Given the description of an element on the screen output the (x, y) to click on. 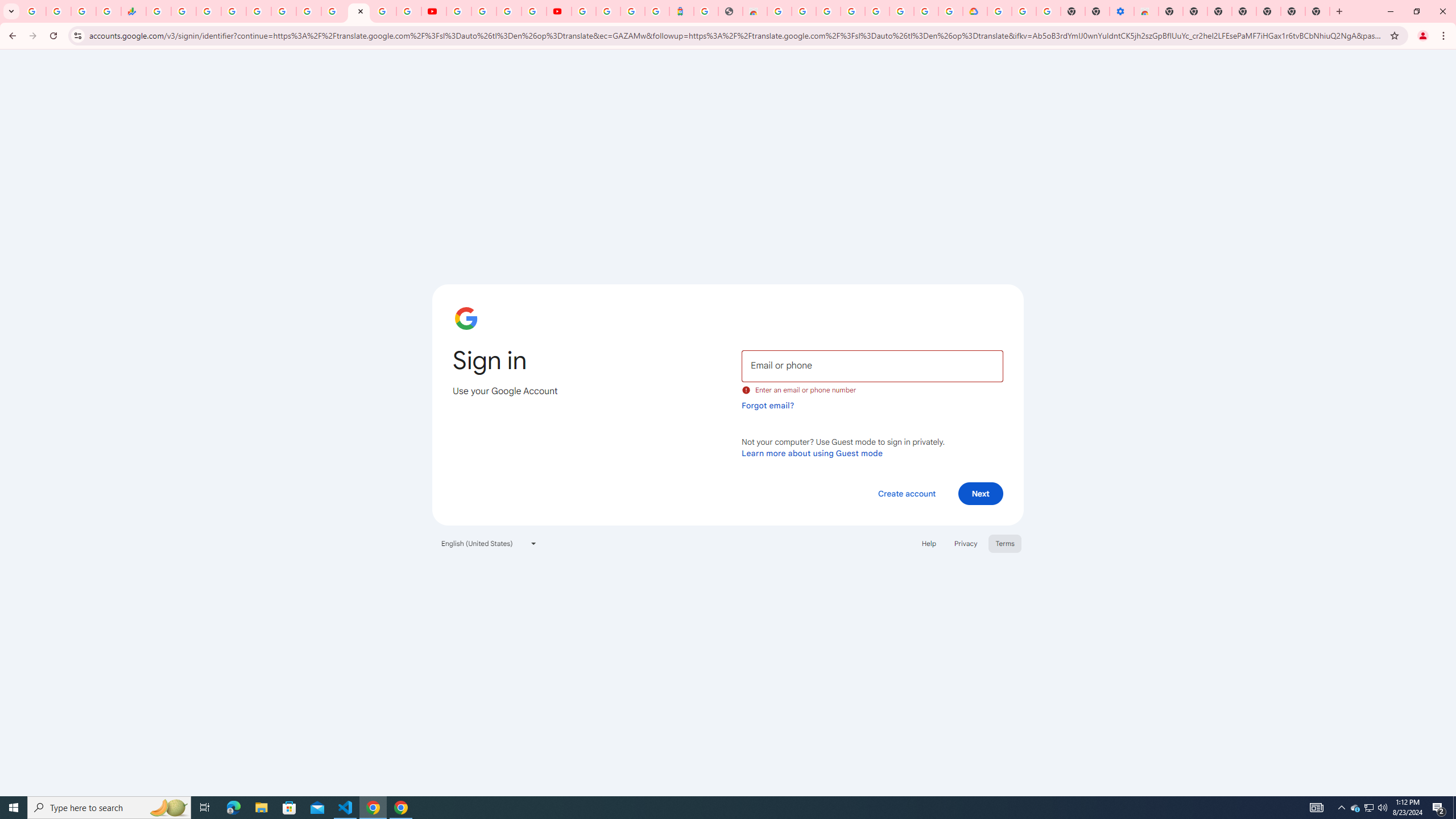
Sign in - Google Accounts (233, 11)
Content Creator Programs & Opportunities - YouTube Creators (558, 11)
Ad Settings (803, 11)
Email or phone (871, 365)
Sign in - Google Accounts (583, 11)
Chrome Web Store - Accessibility extensions (1145, 11)
